Given the description of an element on the screen output the (x, y) to click on. 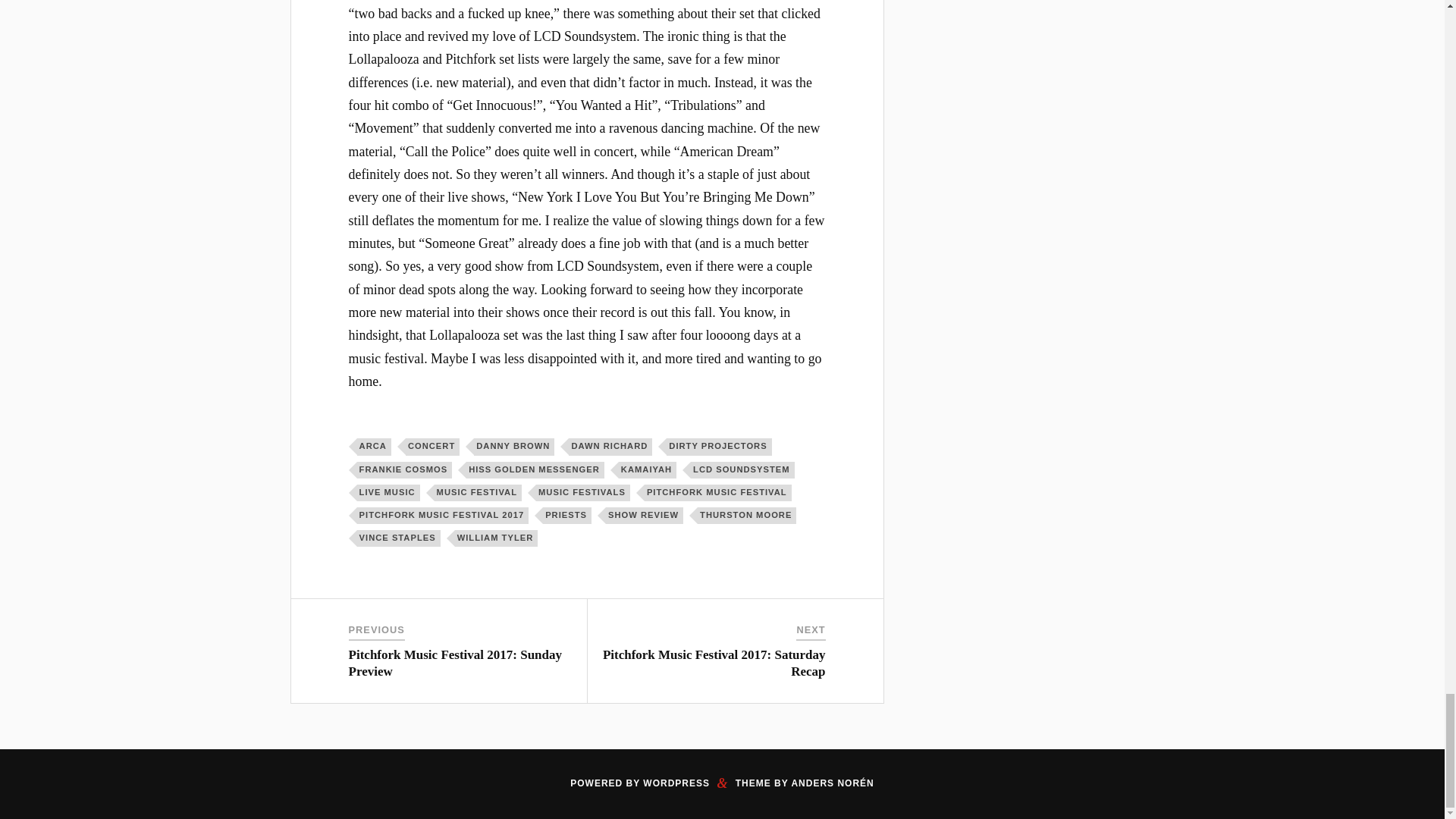
LCD SOUNDSYSTEM (742, 469)
WILLIAM TYLER (496, 538)
Pitchfork Music Festival 2017: Sunday Preview (455, 662)
ARCA (373, 446)
DANNY BROWN (514, 446)
DAWN RICHARD (610, 446)
VINCE STAPLES (398, 538)
SHOW REVIEW (643, 515)
Pitchfork Music Festival 2017: Saturday Recap (713, 662)
PRIESTS (567, 515)
PITCHFORK MUSIC FESTIVAL 2017 (442, 515)
LIVE MUSIC (388, 492)
PITCHFORK MUSIC FESTIVAL (718, 492)
DIRTY PROJECTORS (718, 446)
THURSTON MOORE (746, 515)
